Given the description of an element on the screen output the (x, y) to click on. 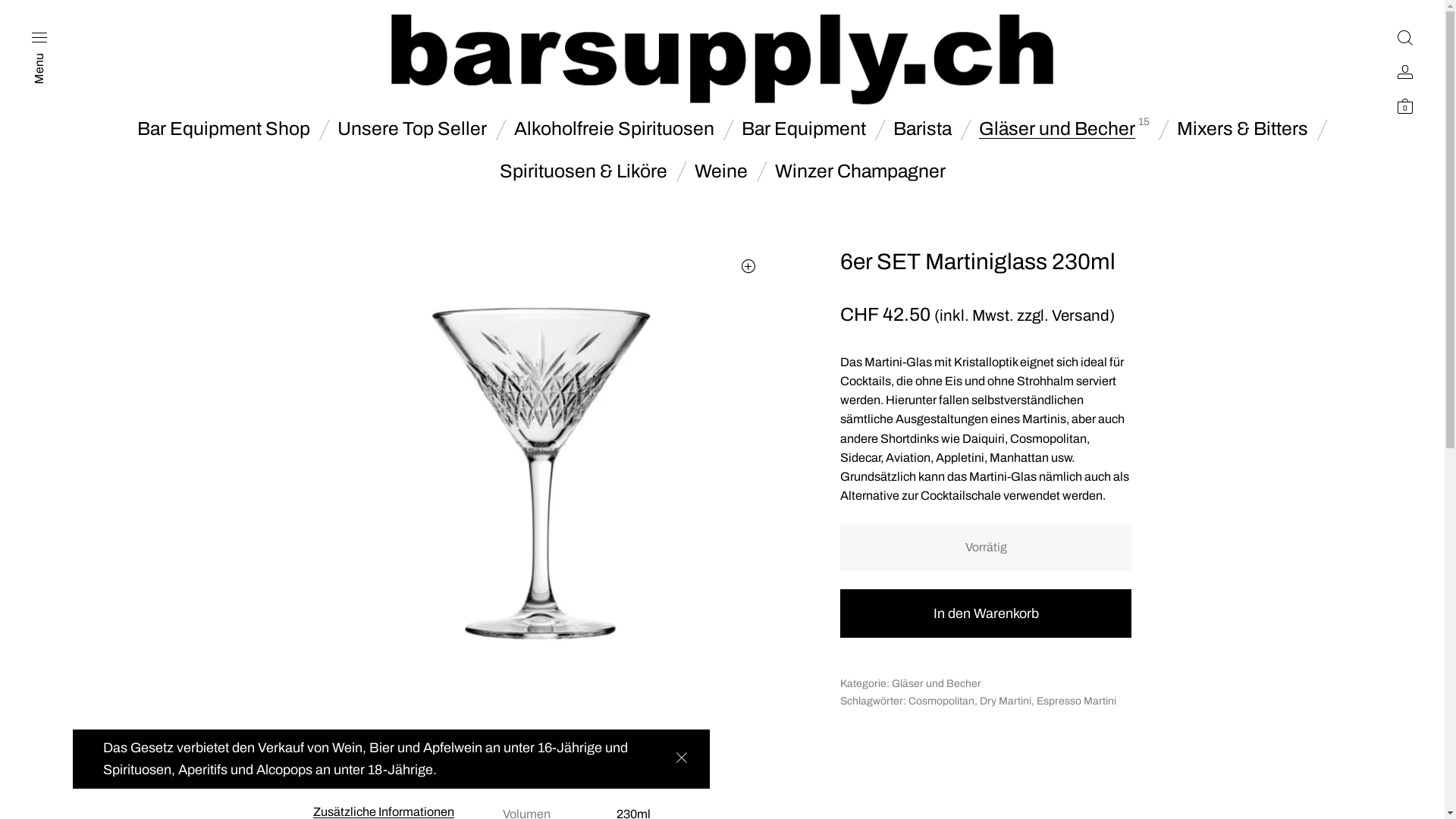
Ausblenden Element type: text (681, 757)
Bar Equipment Element type: text (803, 128)
Winzer Champagner Element type: text (860, 170)
Unsere Top Seller Element type: text (411, 128)
Timeless Martiniglass Element type: hover (540, 473)
Espresso Martini Element type: text (1076, 700)
Alkoholfreie Spirituosen Element type: text (614, 128)
In den Warenkorb Element type: text (985, 613)
Bar Equipment Shop Element type: text (222, 128)
Mixers & Bitters Element type: text (1242, 128)
Dry Martini Element type: text (1005, 700)
Barista Element type: text (922, 128)
Weine Element type: text (720, 170)
Cosmopolitan Element type: text (941, 700)
